Given the description of an element on the screen output the (x, y) to click on. 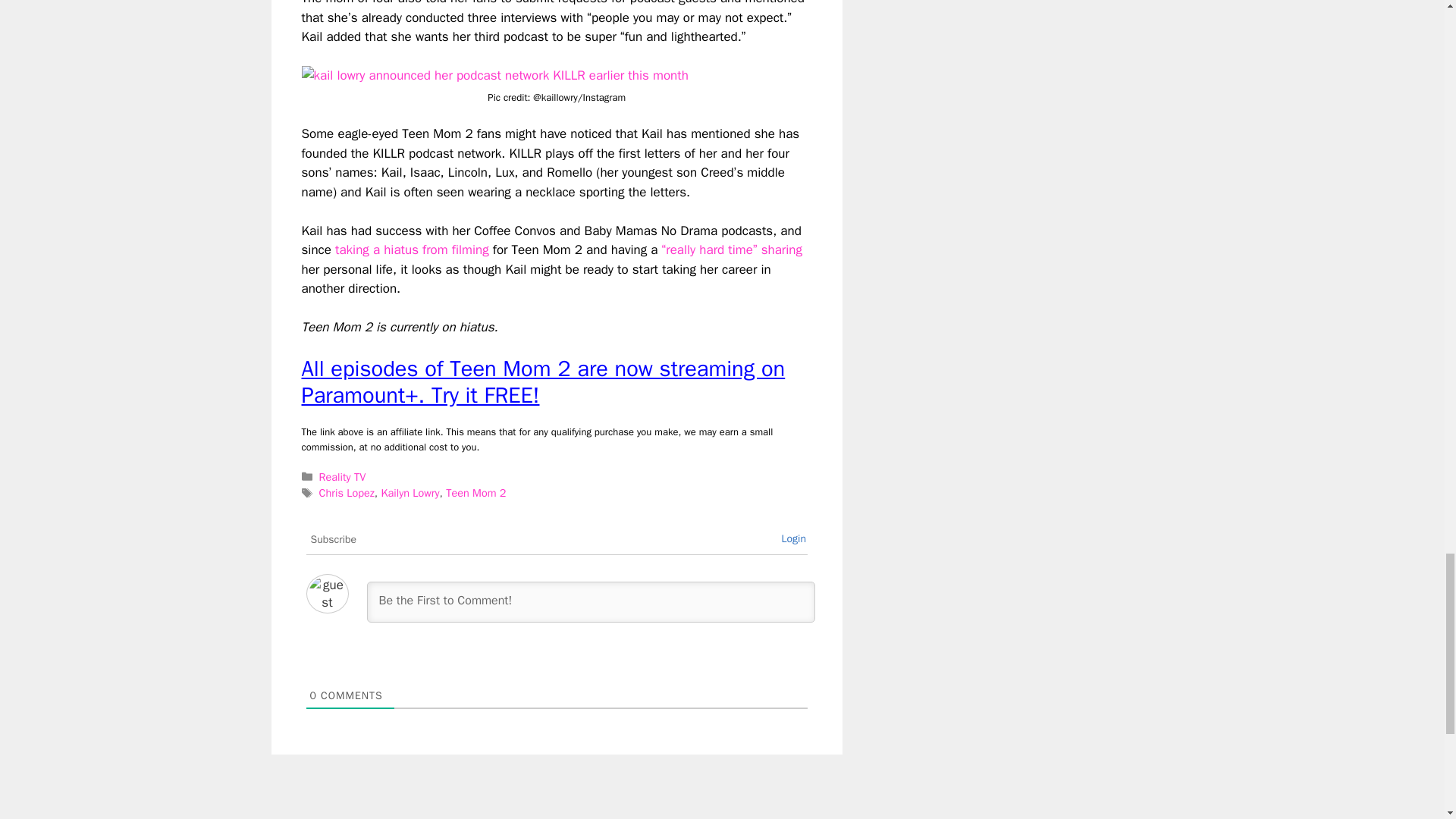
Login (793, 538)
Chris Lopez (346, 492)
Reality TV (342, 477)
Kailyn Lowry (410, 492)
Teen Mom 2 (475, 492)
taking a hiatus from filming (411, 249)
